Given the description of an element on the screen output the (x, y) to click on. 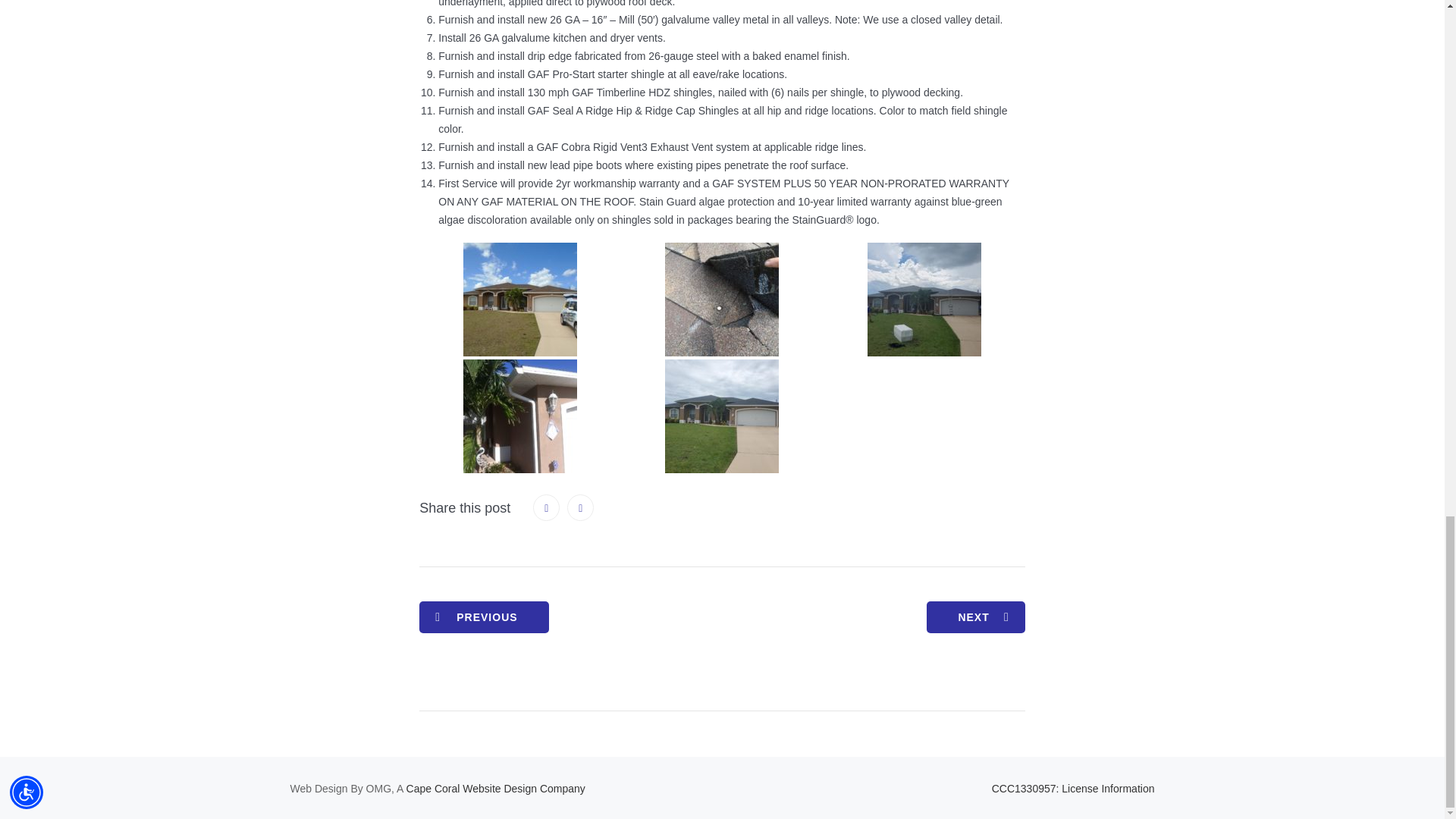
NEXT (975, 617)
CCC1330957: License Information (1072, 788)
Cape Coral Asphalt Shingle Roof Replacement (975, 617)
Cape Coral Website Design Company (495, 788)
PREVIOUS (483, 617)
